Given the description of an element on the screen output the (x, y) to click on. 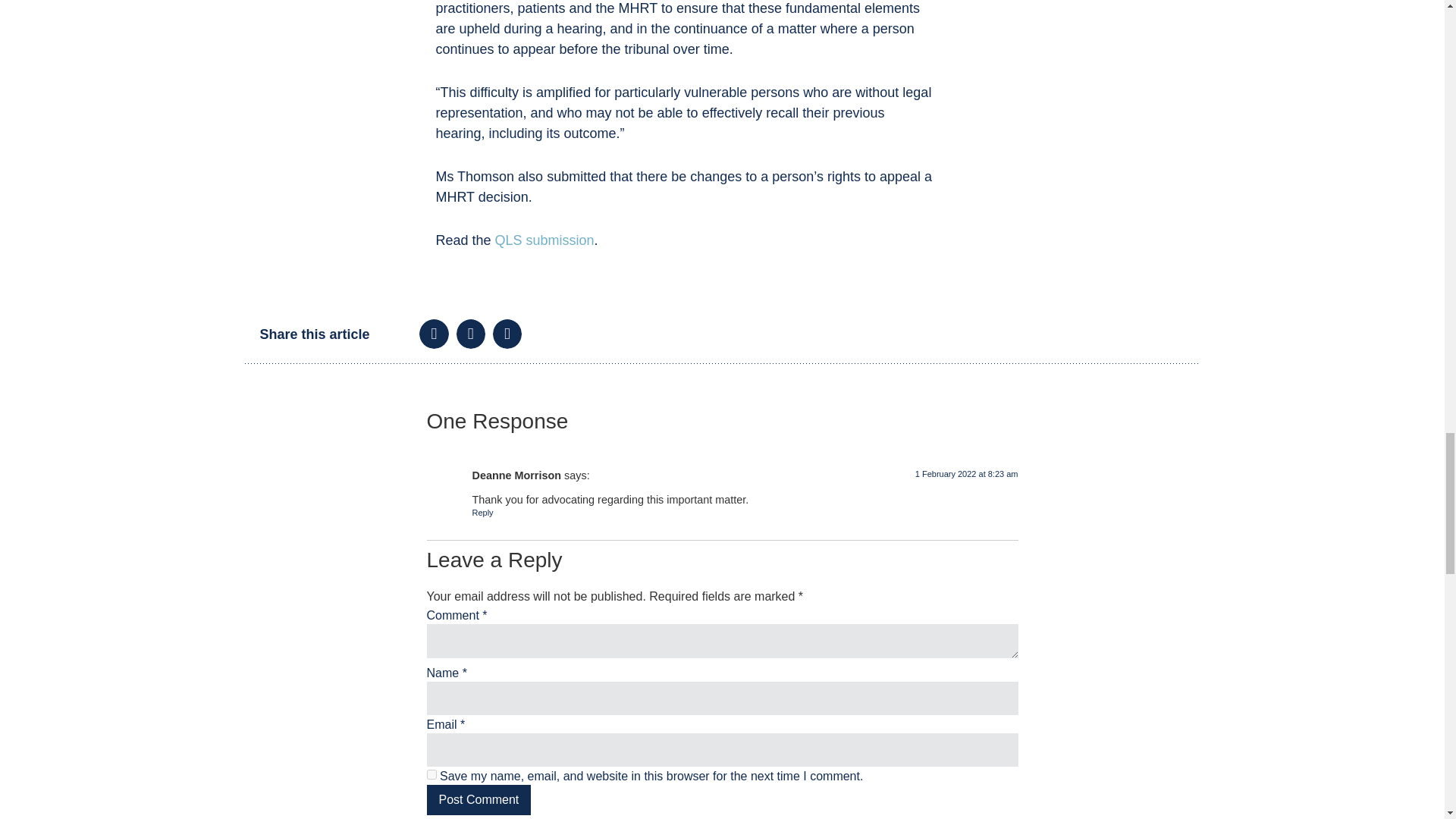
Post Comment (478, 799)
yes (430, 774)
